Given the description of an element on the screen output the (x, y) to click on. 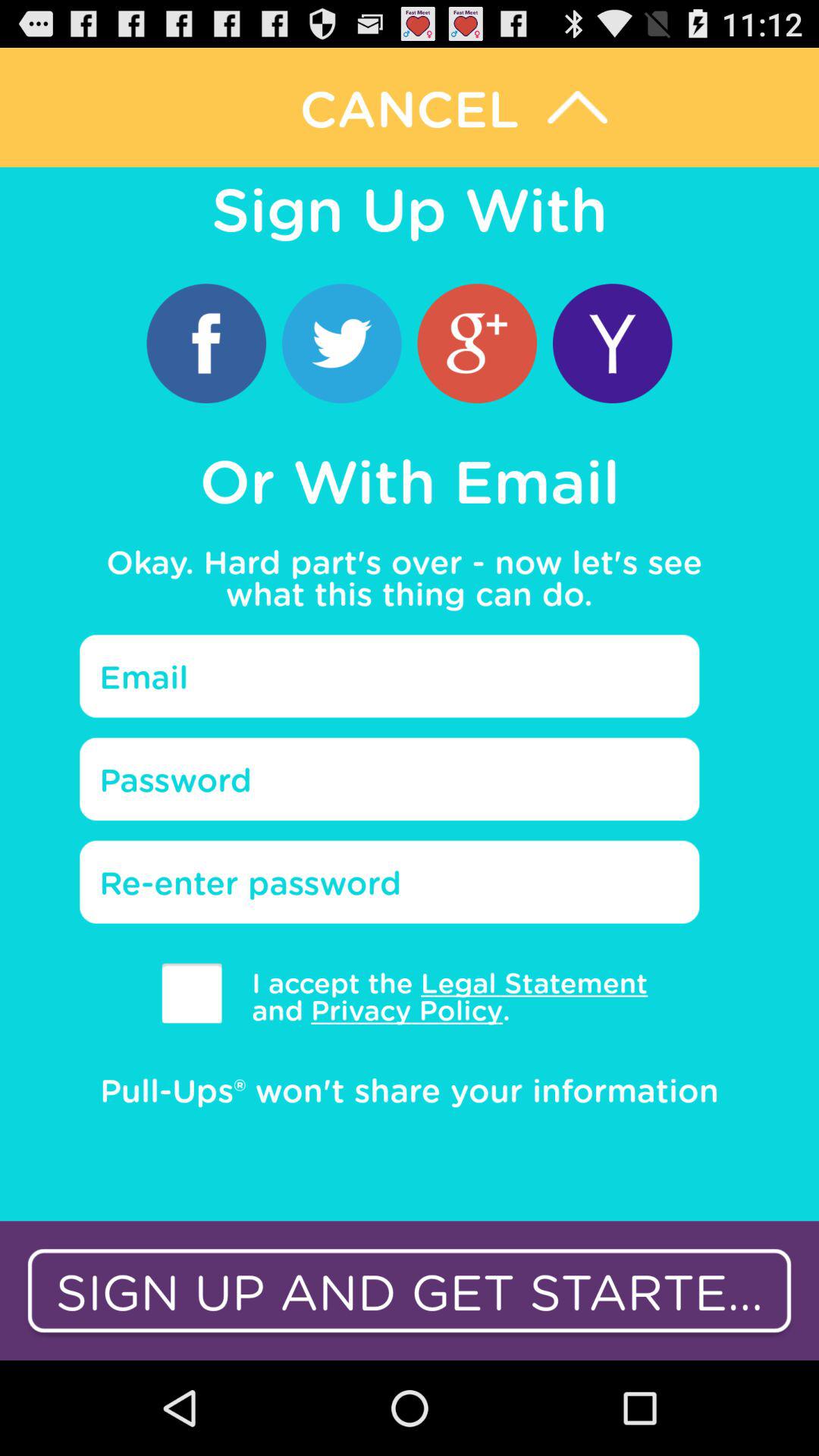
open the icon above the sign up with (409, 107)
